Given the description of an element on the screen output the (x, y) to click on. 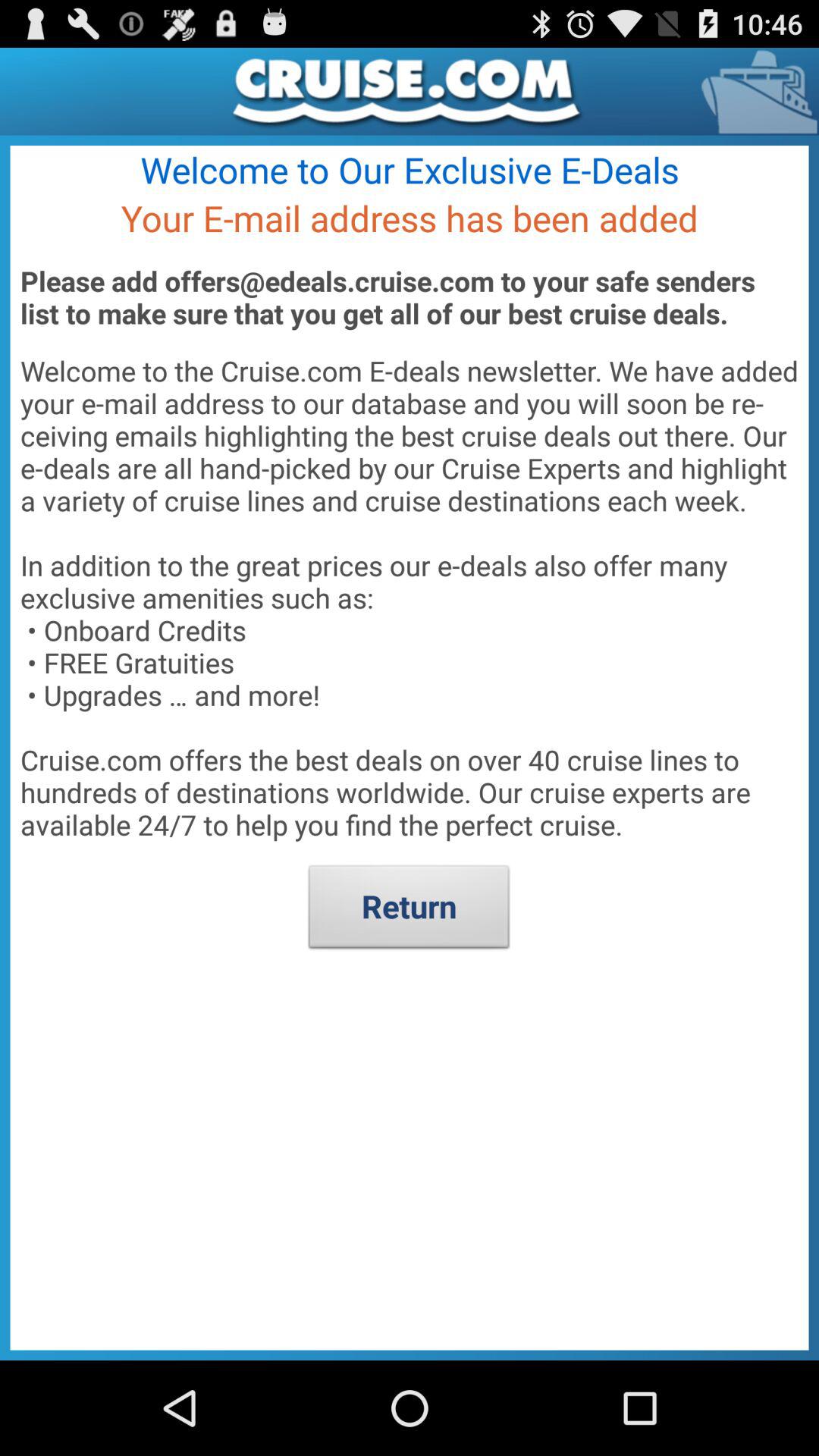
click item below the welcome to the (409, 910)
